Given the description of an element on the screen output the (x, y) to click on. 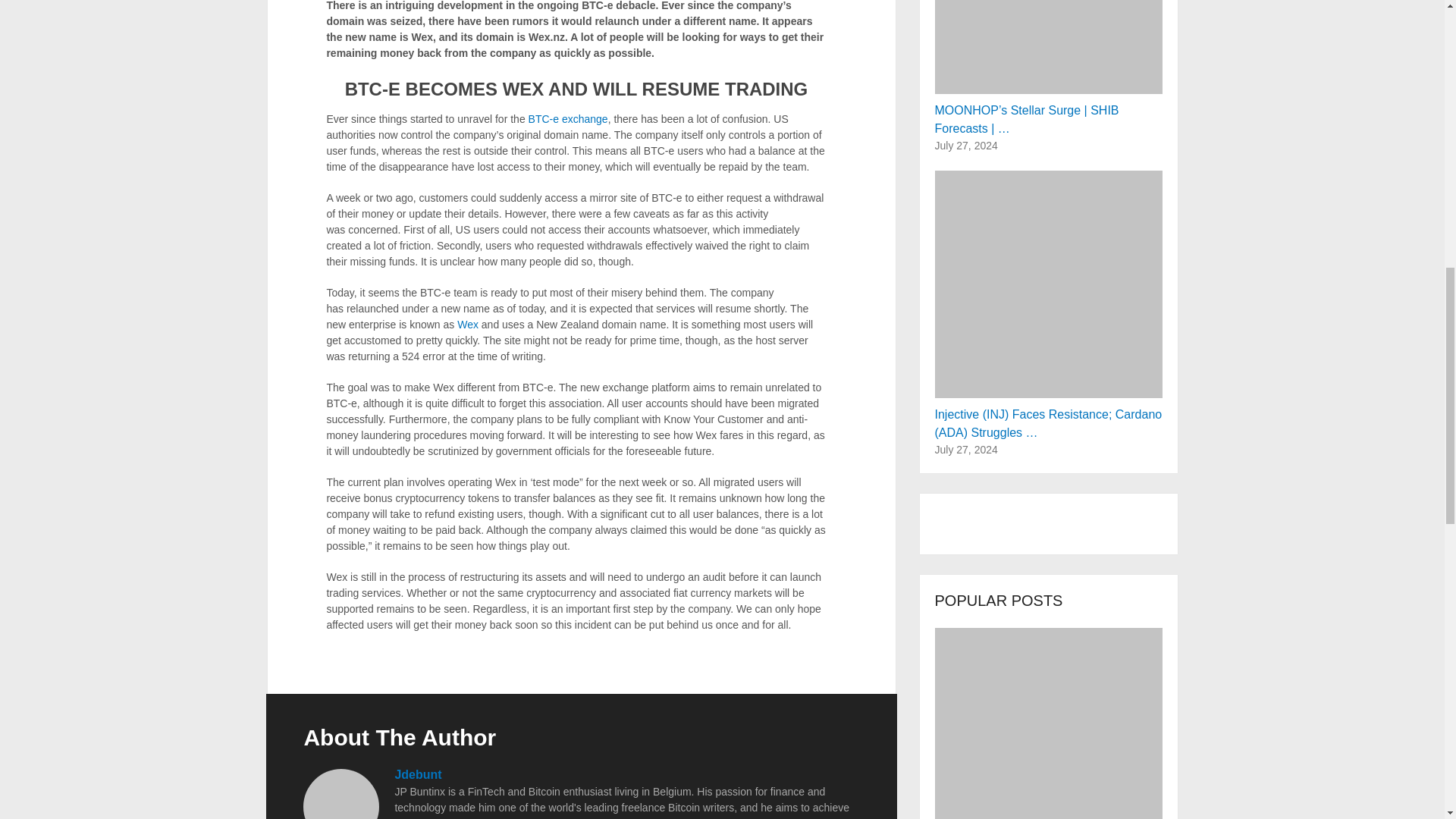
Jdebunt (417, 774)
BTC-e exchange (568, 119)
Wex (468, 324)
